Given the description of an element on the screen output the (x, y) to click on. 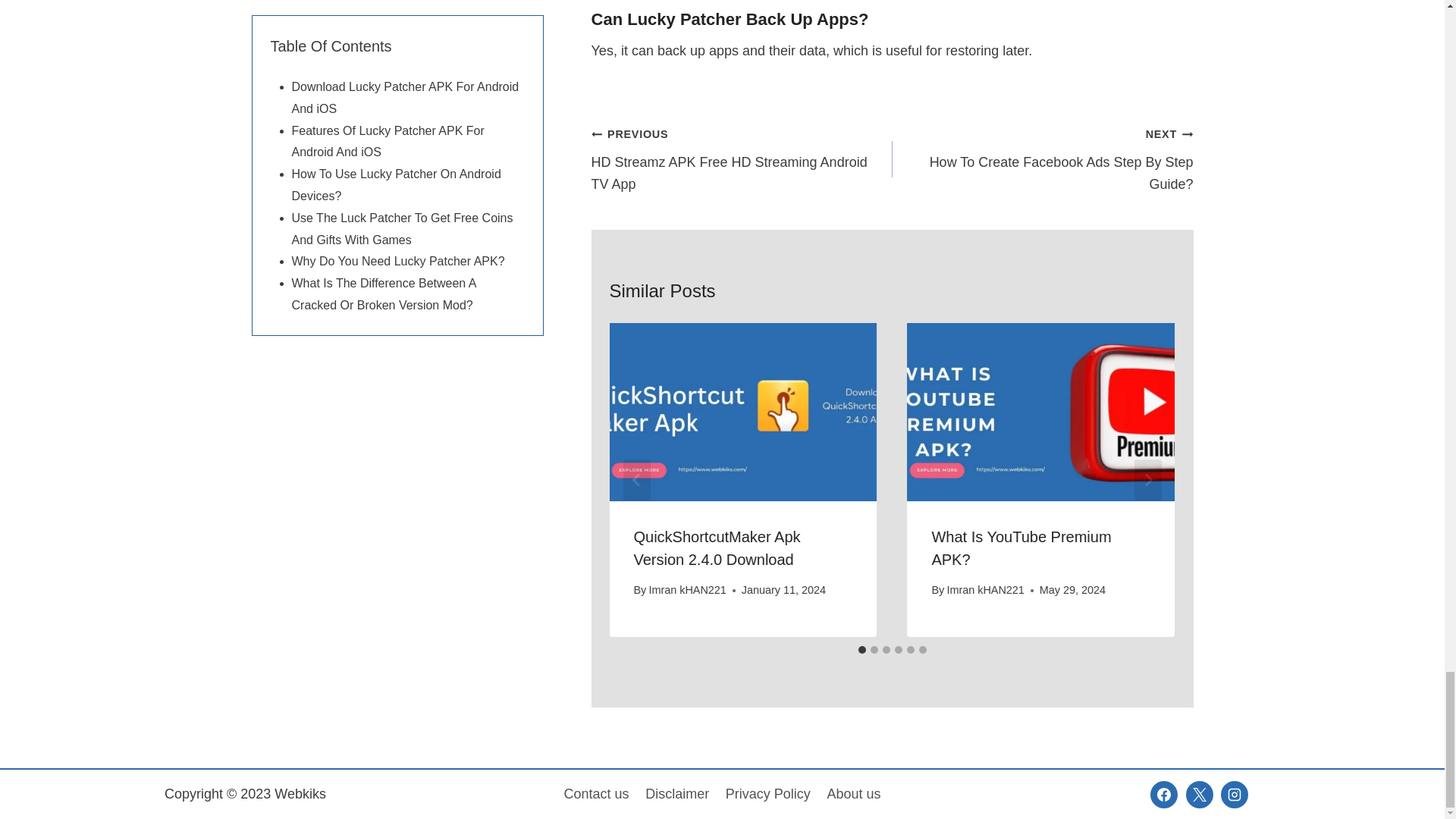
Imran kHAN221 (741, 158)
QuickShortcutMaker Apk Version 2.4.0 Download (686, 589)
